Given the description of an element on the screen output the (x, y) to click on. 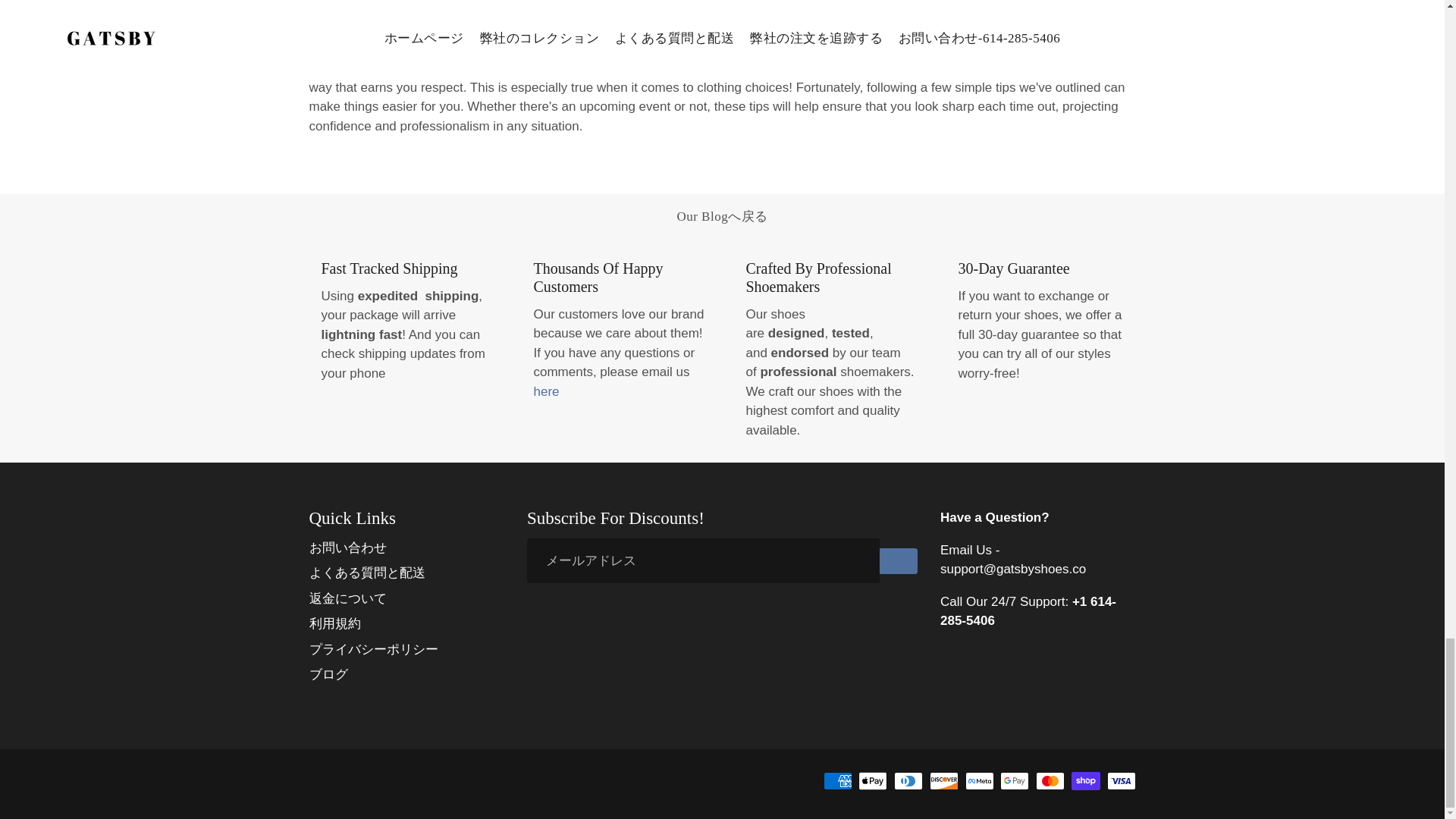
Meta Pay (979, 781)
here (546, 391)
Mastercard (1049, 781)
Visa (1120, 781)
Discover (944, 781)
Apple Pay (872, 781)
Contact Us (546, 391)
Diners Club (908, 781)
Shop Pay (1085, 781)
American Express (837, 781)
Google Pay (1014, 781)
